Given the description of an element on the screen output the (x, y) to click on. 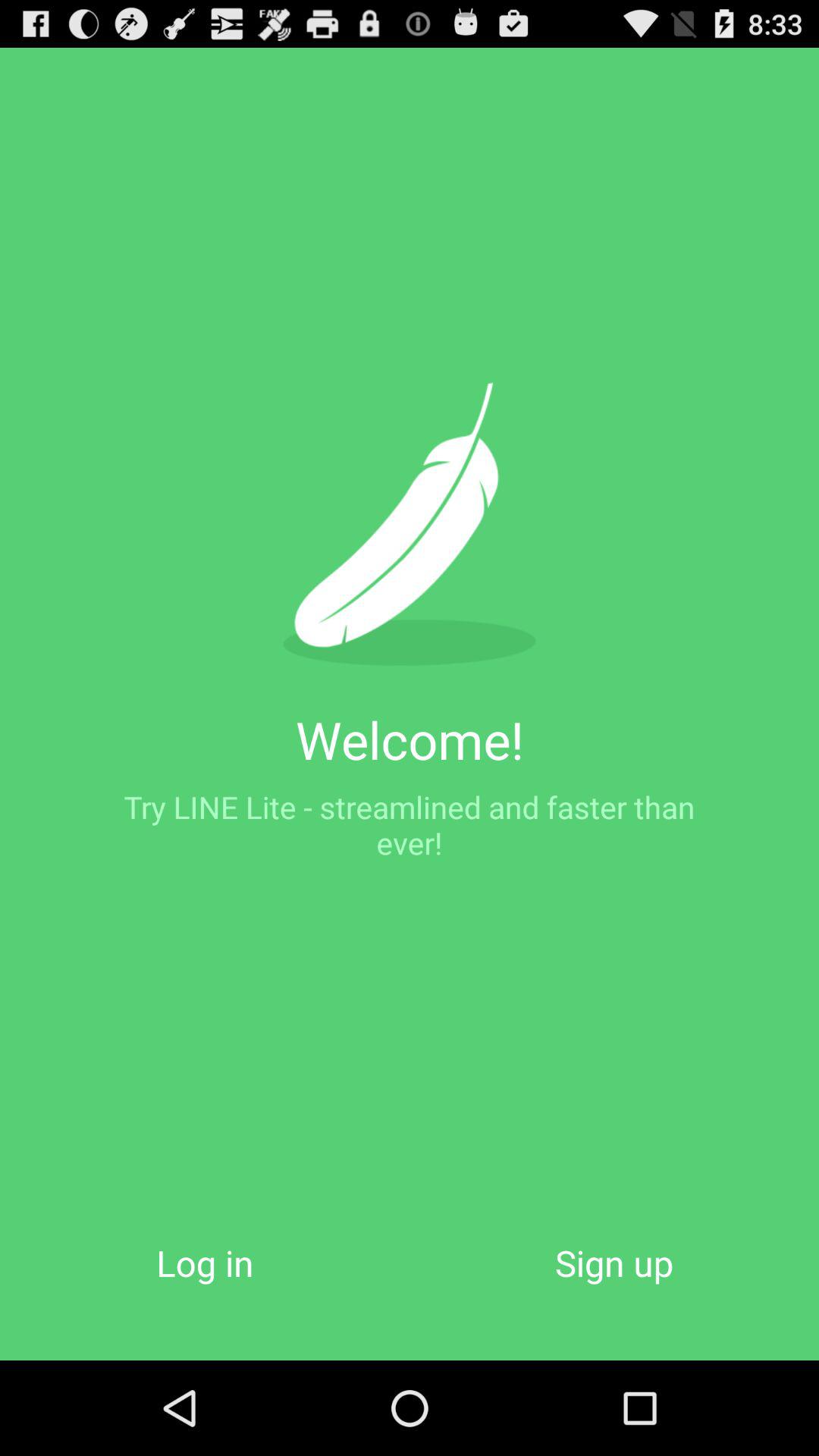
turn on the app below the try line lite icon (614, 1262)
